Given the description of an element on the screen output the (x, y) to click on. 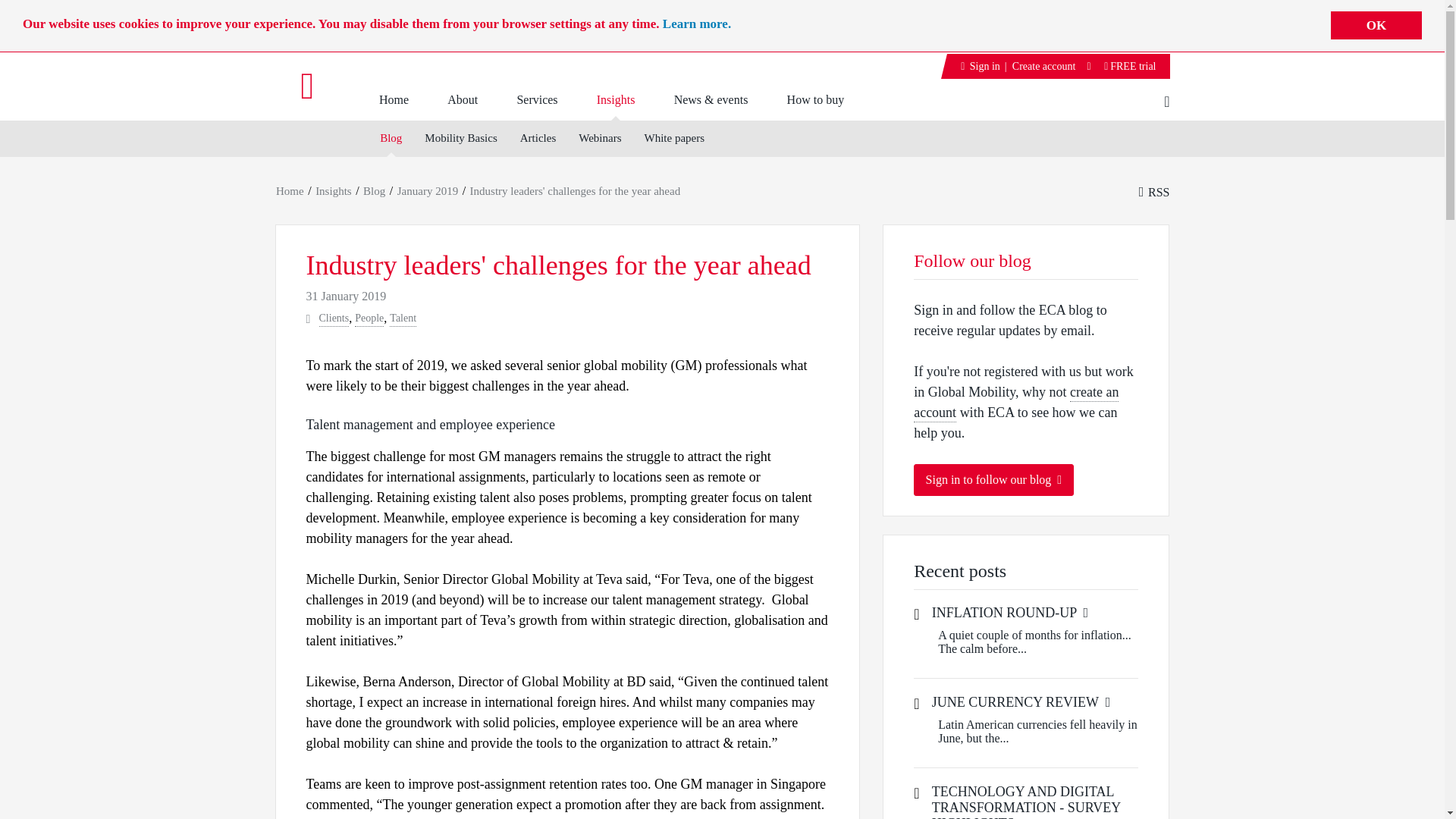
Articles (537, 139)
Home (289, 190)
Search (28, 15)
White papers (673, 139)
Contact us (1089, 66)
Blog (390, 139)
Webinars (599, 139)
January 2019 (427, 190)
Sign in (50, 294)
FREE trial (1129, 66)
Home (393, 90)
How to buy (815, 96)
Create account (1043, 66)
How to buy (815, 101)
Insights (614, 95)
